Given the description of an element on the screen output the (x, y) to click on. 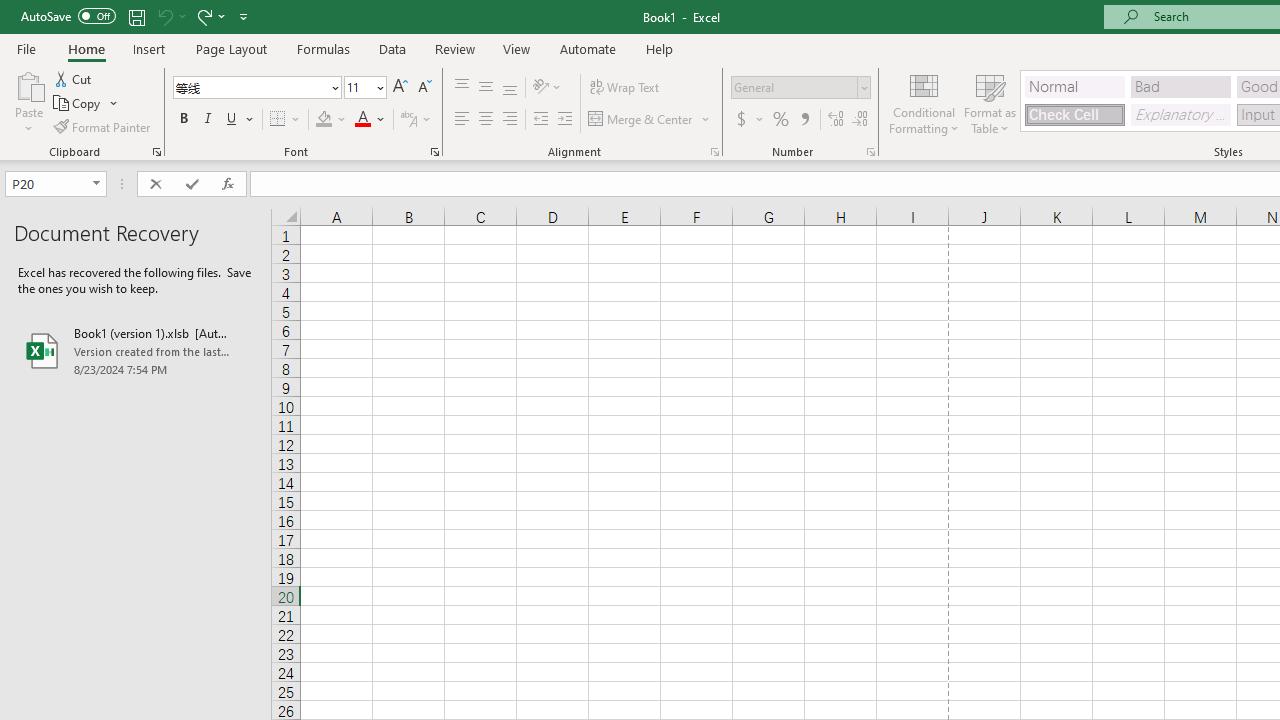
Bottom Align (509, 87)
Bold (183, 119)
Number Format (800, 87)
Format Painter (103, 126)
Format Cell Alignment (714, 151)
Show Phonetic Field (416, 119)
Decrease Decimal (859, 119)
Paste (28, 102)
Borders (285, 119)
Bottom Border (278, 119)
Format Cell Font (434, 151)
